Given the description of an element on the screen output the (x, y) to click on. 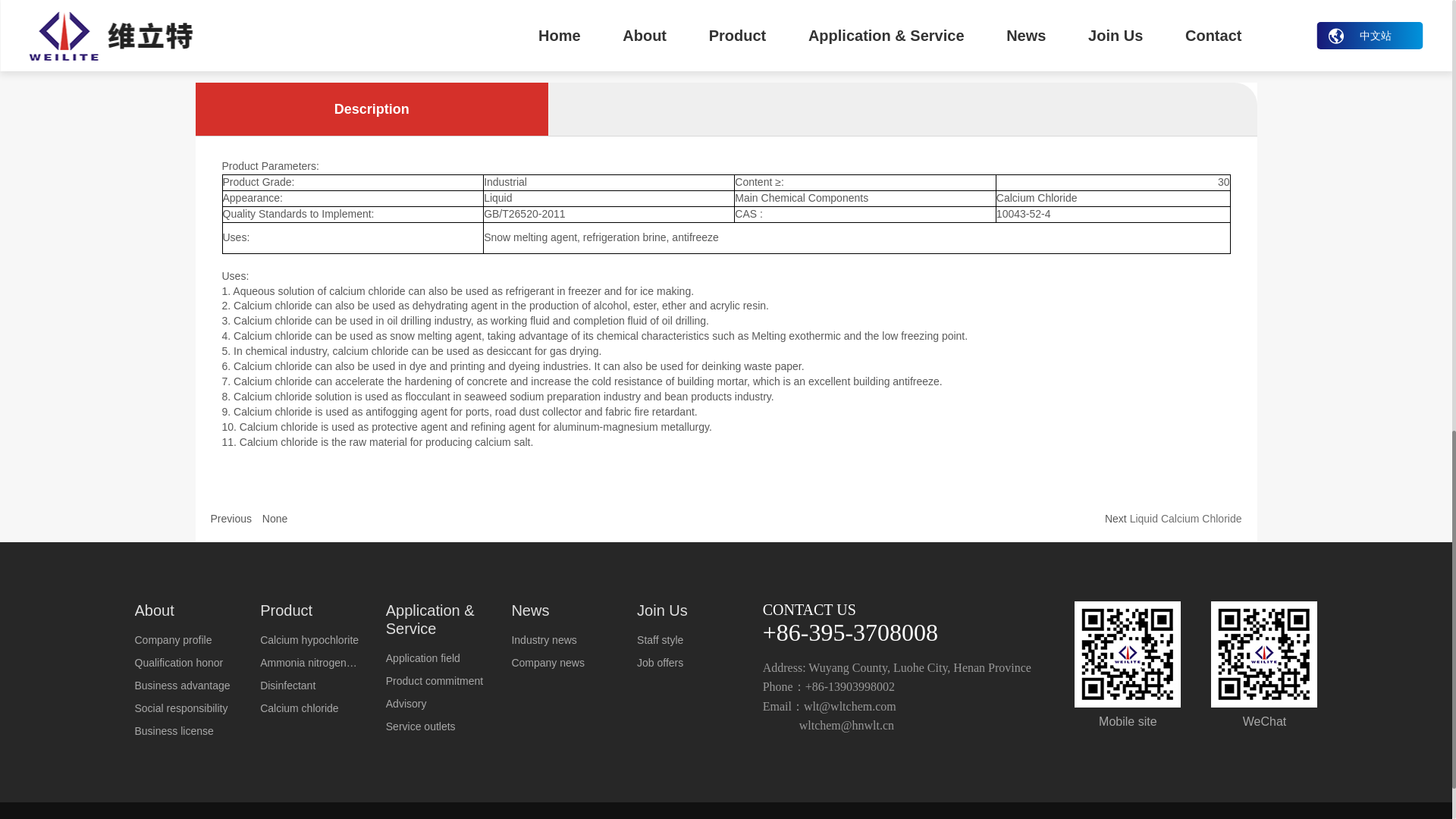
QR code (1264, 654)
Liquid Calcium Chloride (1185, 517)
QR code (1127, 654)
